Given the description of an element on the screen output the (x, y) to click on. 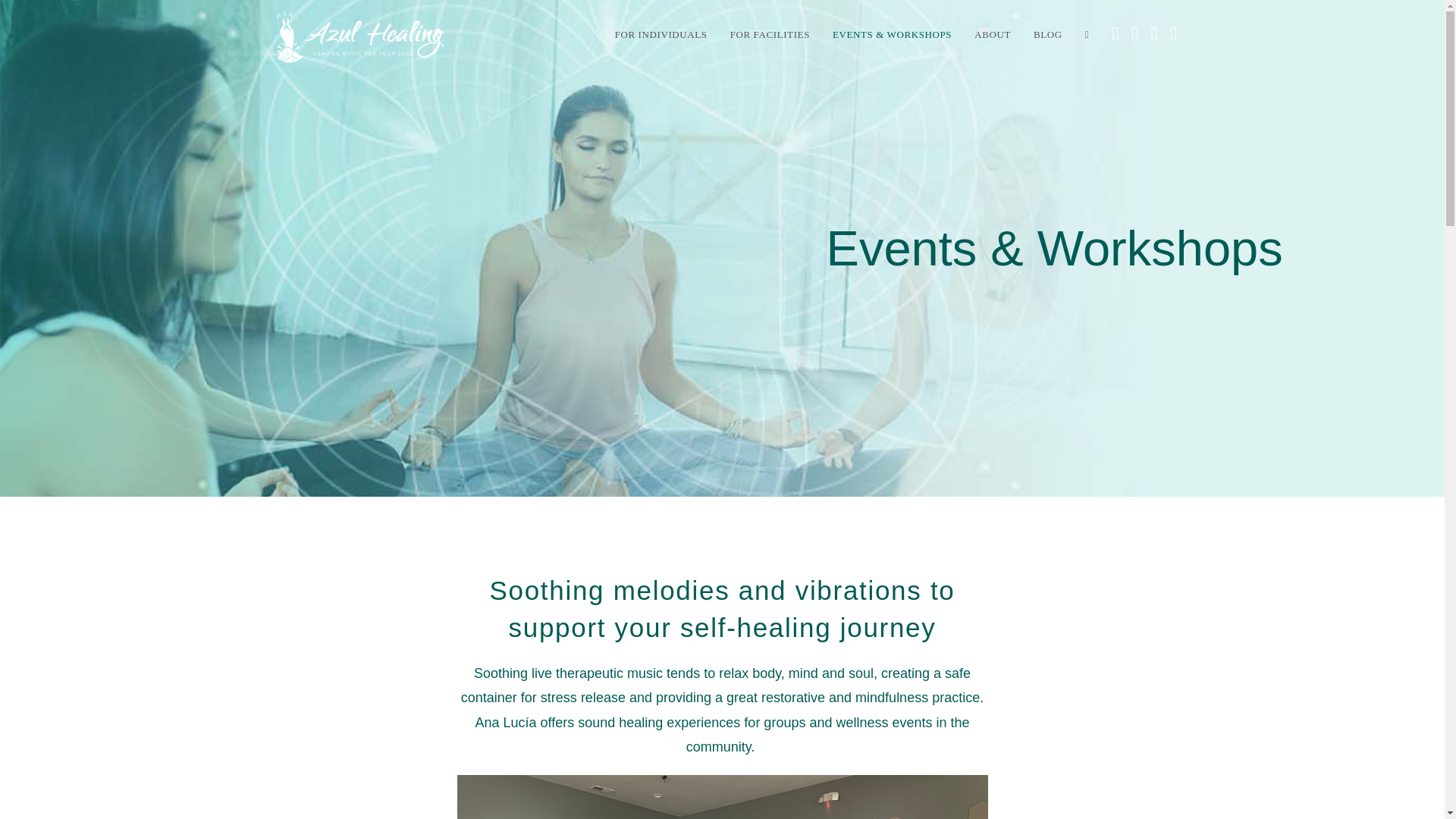
ABOUT (992, 34)
FOR FACILITIES (770, 34)
BLOG (1048, 34)
FOR INDIVIDUALS (661, 34)
